Given the description of an element on the screen output the (x, y) to click on. 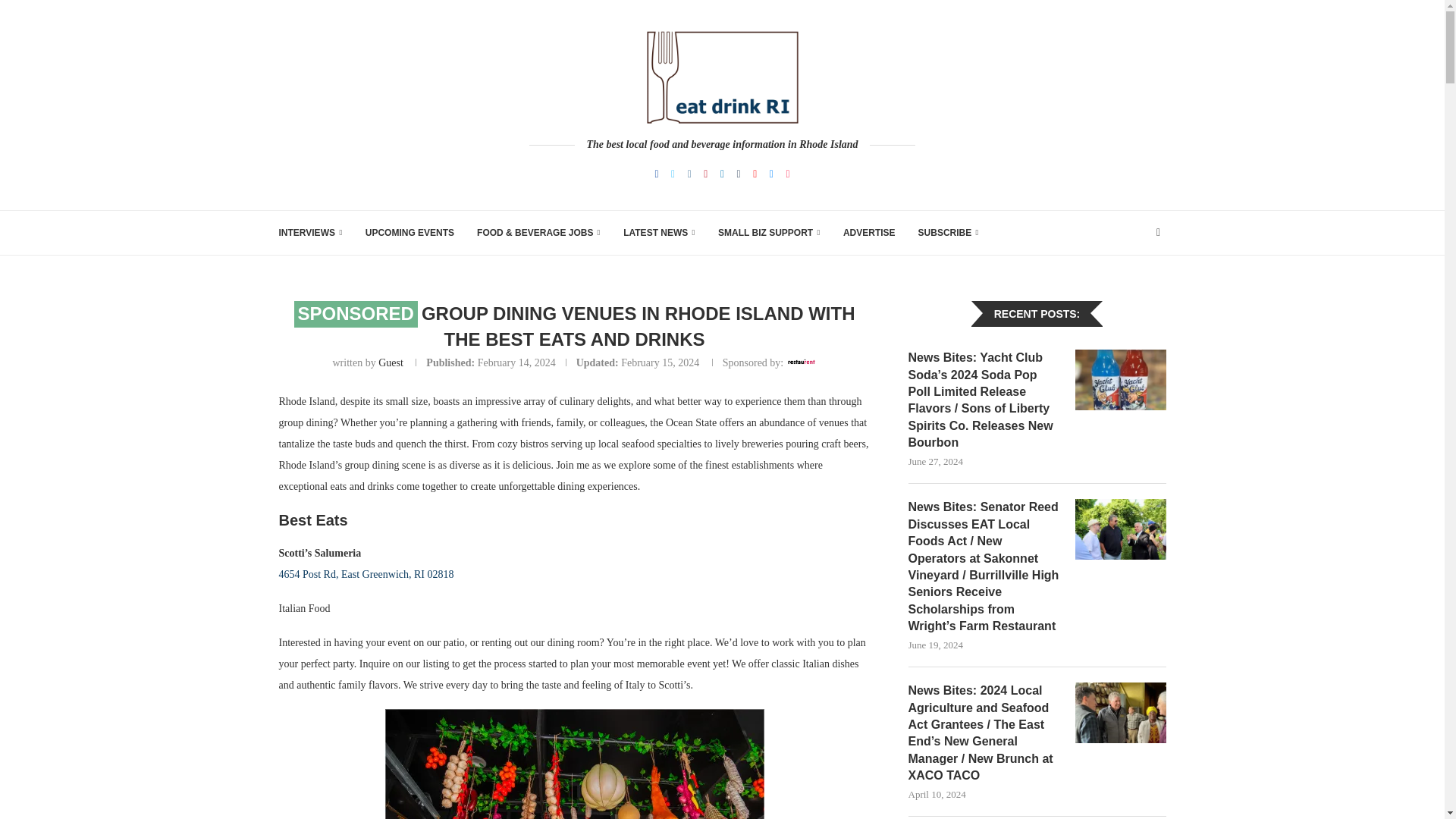
UPCOMING EVENTS (409, 232)
SUBSCRIBE (948, 232)
ADVERTISE (869, 232)
4654 Post Rd, East Greenwich, RI 02818 (366, 573)
SMALL BIZ SUPPORT (769, 232)
Guest (390, 362)
LATEST NEWS (659, 232)
INTERVIEWS (310, 232)
